Given the description of an element on the screen output the (x, y) to click on. 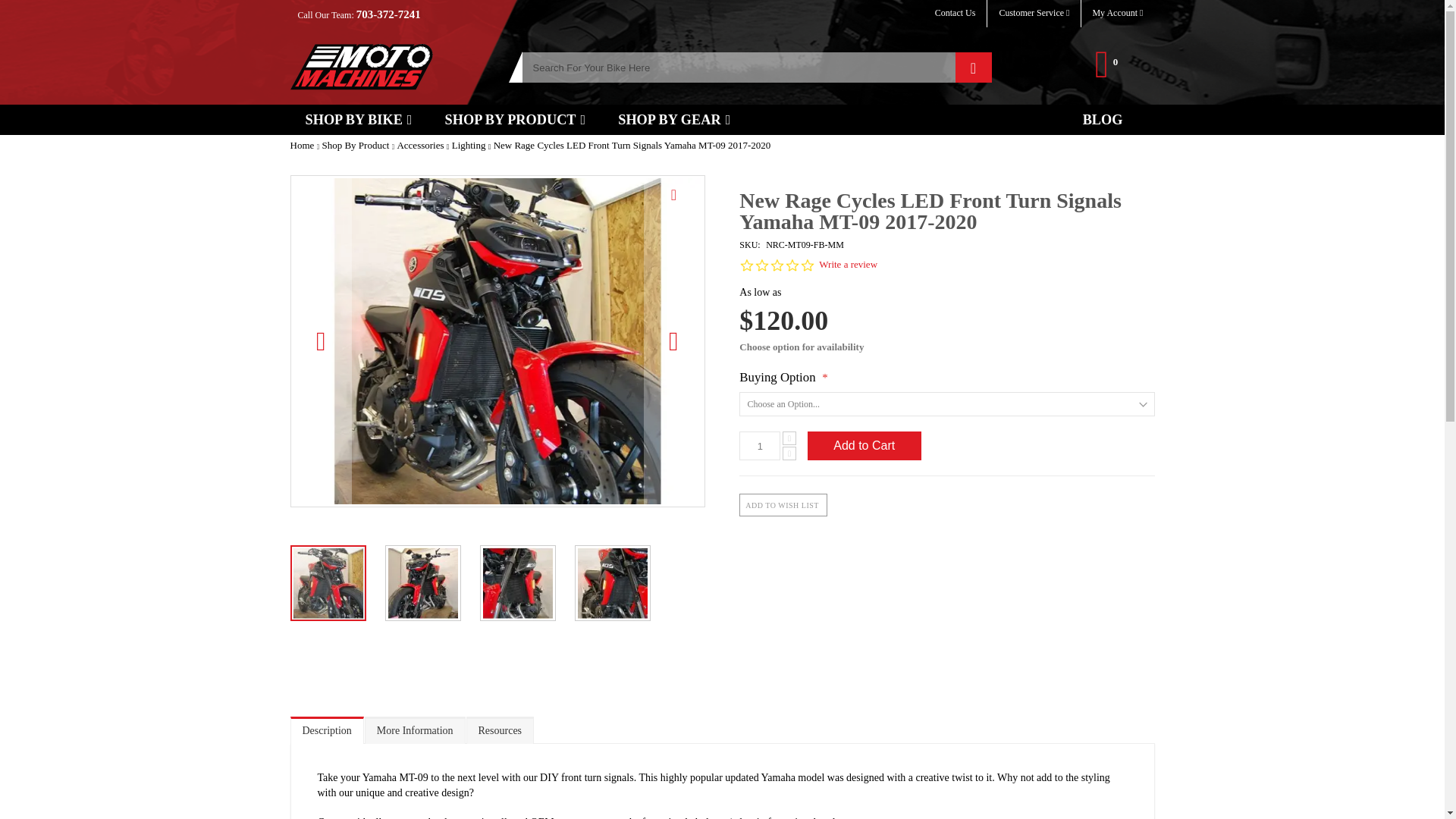
Go to Home Page (302, 144)
Qty (759, 445)
Search (973, 67)
Contact Us (954, 12)
SHOP BY BIKE (357, 119)
703-372-7241 (388, 14)
1 (759, 445)
Search (973, 67)
Moto Machines (360, 67)
Add to Cart (864, 445)
